Given the description of an element on the screen output the (x, y) to click on. 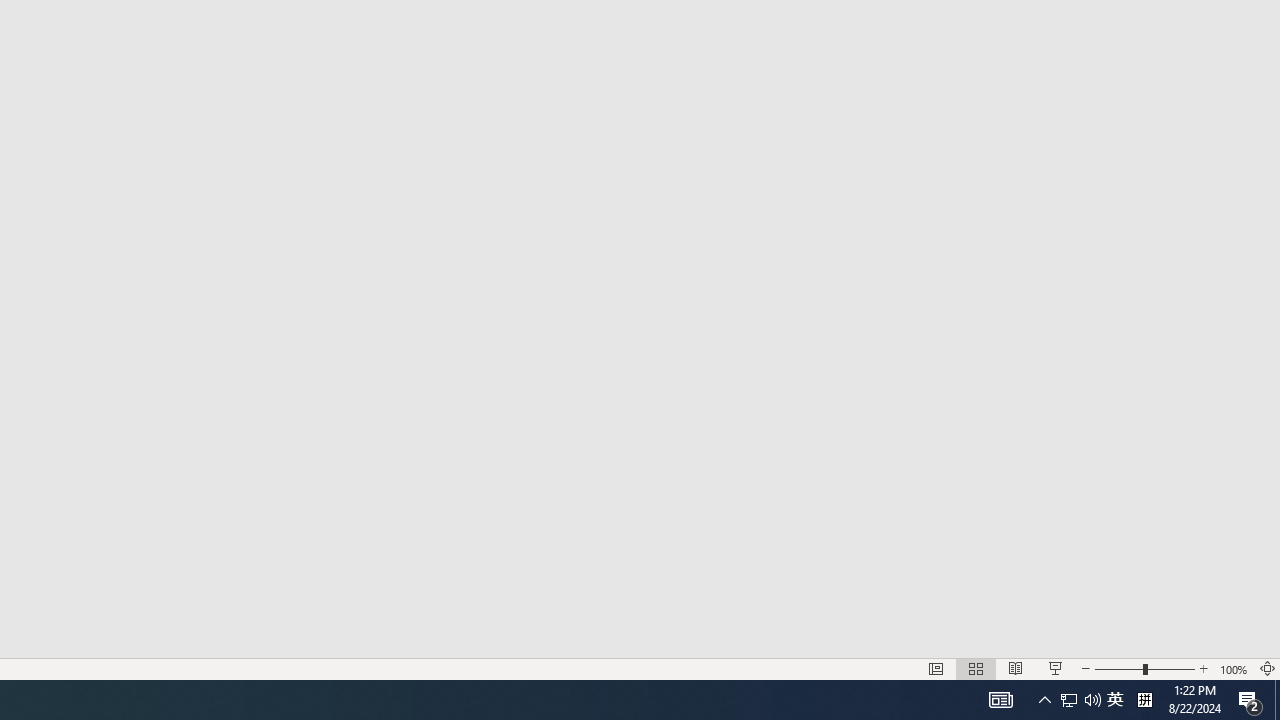
Zoom 100% (1234, 668)
